Given the description of an element on the screen output the (x, y) to click on. 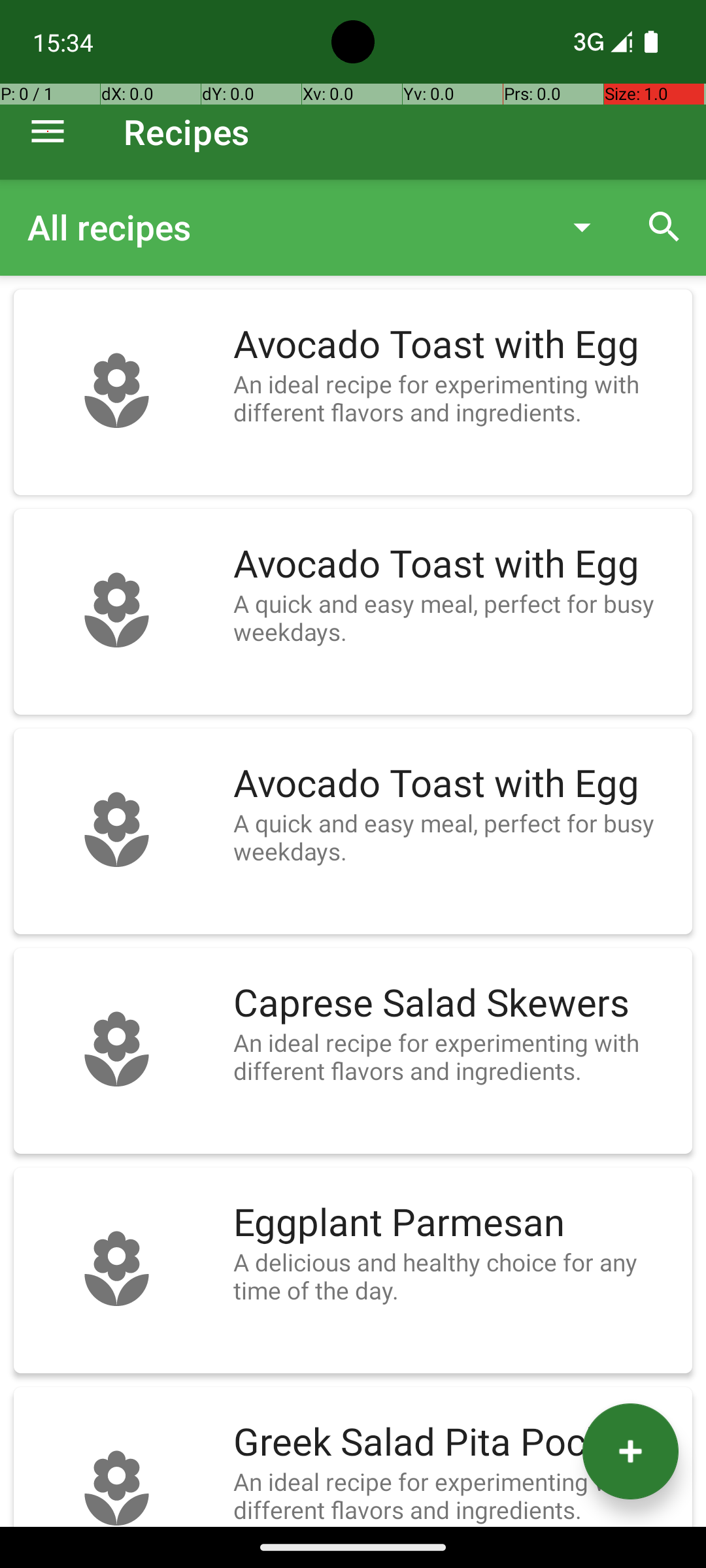
Greek Salad Pita Pockets Element type: android.widget.TextView (455, 1442)
